Given the description of an element on the screen output the (x, y) to click on. 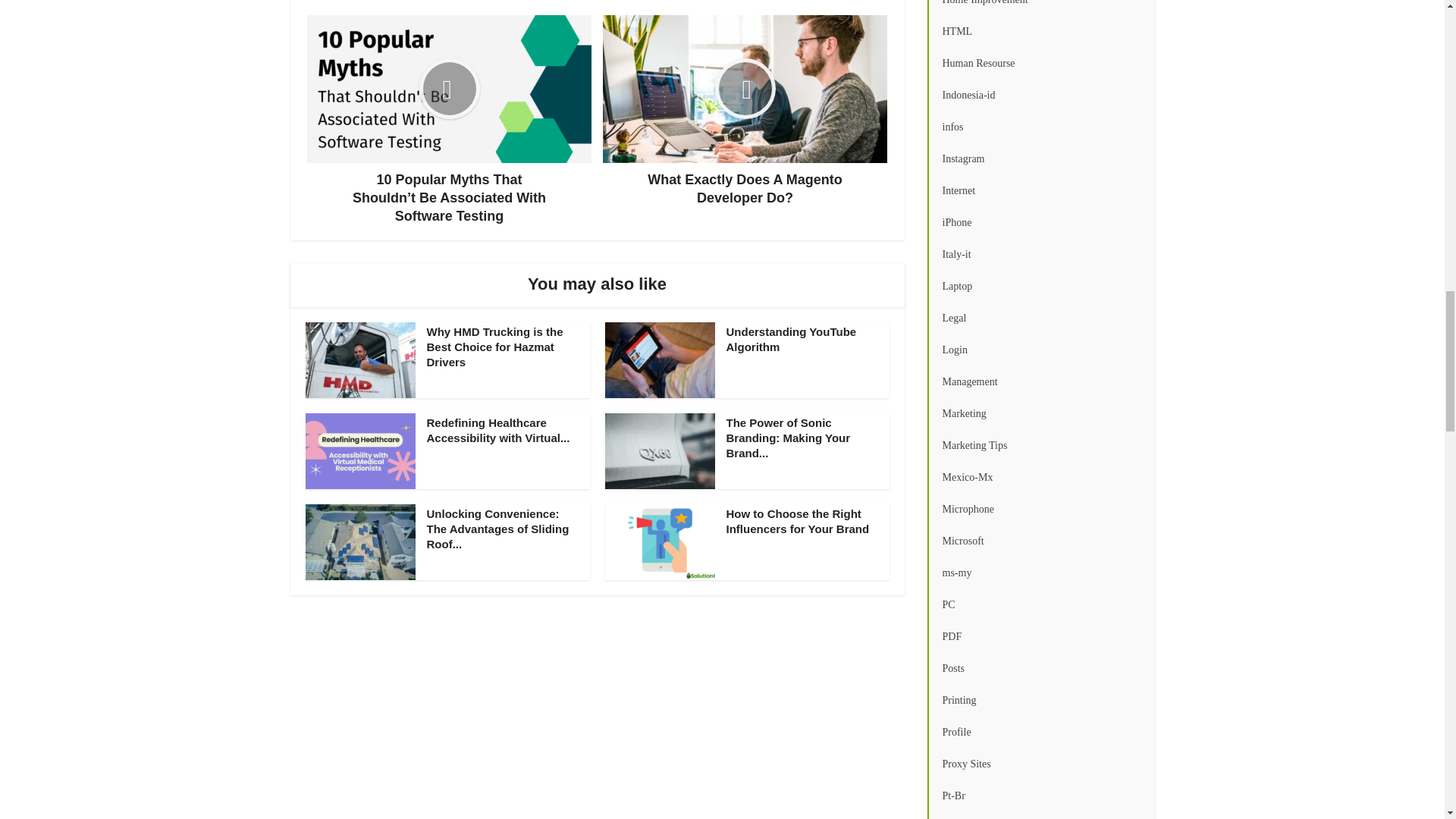
Why HMD Trucking is the Best Choice for Hazmat Drivers (494, 347)
The Power of Sonic Branding: Making Your Brand Memorable (788, 438)
Understanding YouTube Algorithm (791, 338)
Why HMD Trucking is the Best Choice for Hazmat Drivers (494, 347)
How to Choose the Right Influencers for Your Brand (797, 520)
What Exactly Does A Magento Developer Do? (744, 111)
The Power of Sonic Branding: Making Your Brand... (788, 438)
Redefining Healthcare Accessibility with Virtual... (497, 430)
Unlocking Convenience: The Advantages of Sliding Roof... (497, 528)
